Given the description of an element on the screen output the (x, y) to click on. 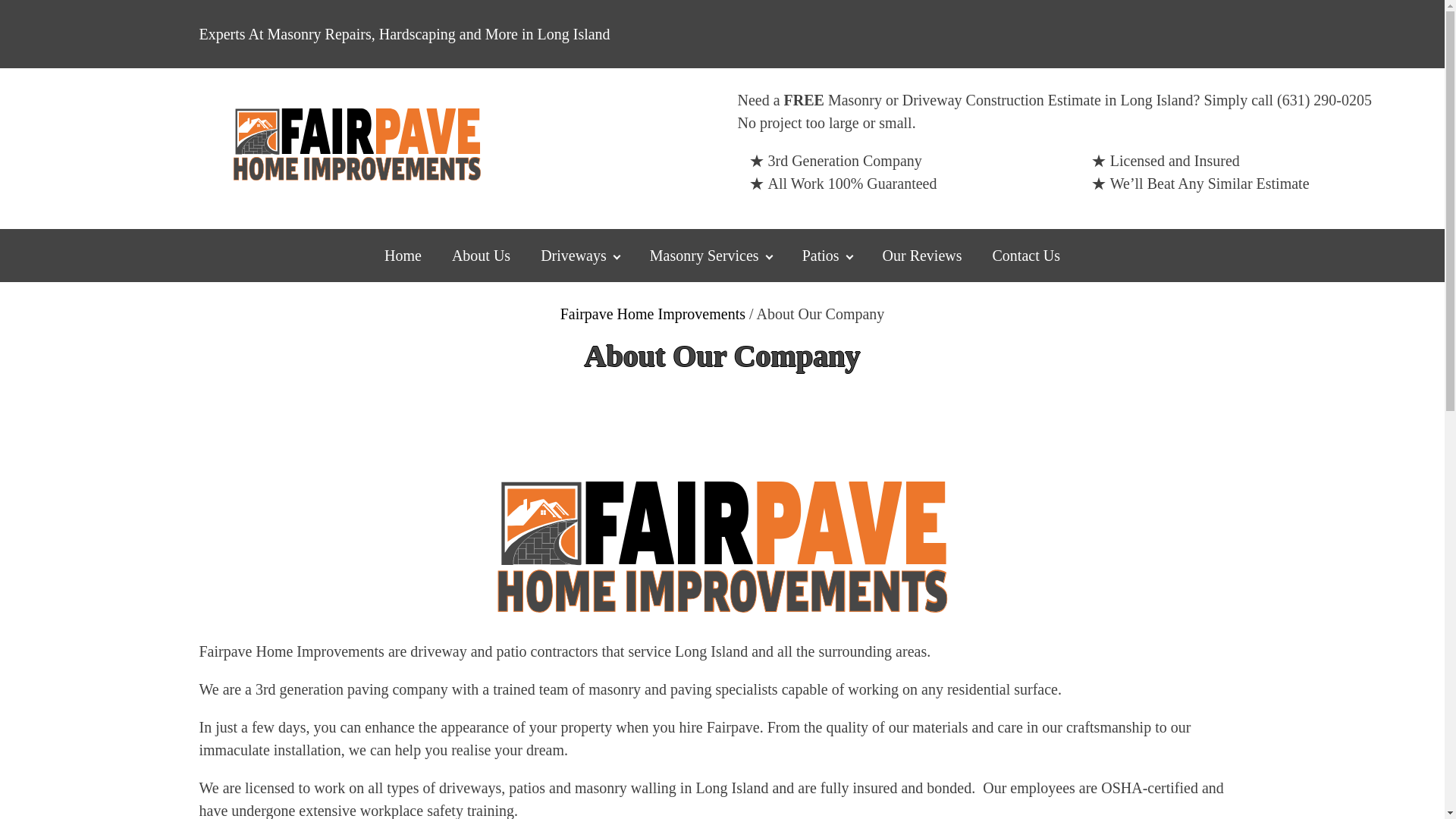
Fairpave Home Improvements (652, 313)
About Us (480, 255)
Contact Us (1025, 255)
Driveways (579, 255)
Masonry Services (710, 255)
Patios (827, 255)
Our Reviews (921, 255)
Home (402, 255)
